Given the description of an element on the screen output the (x, y) to click on. 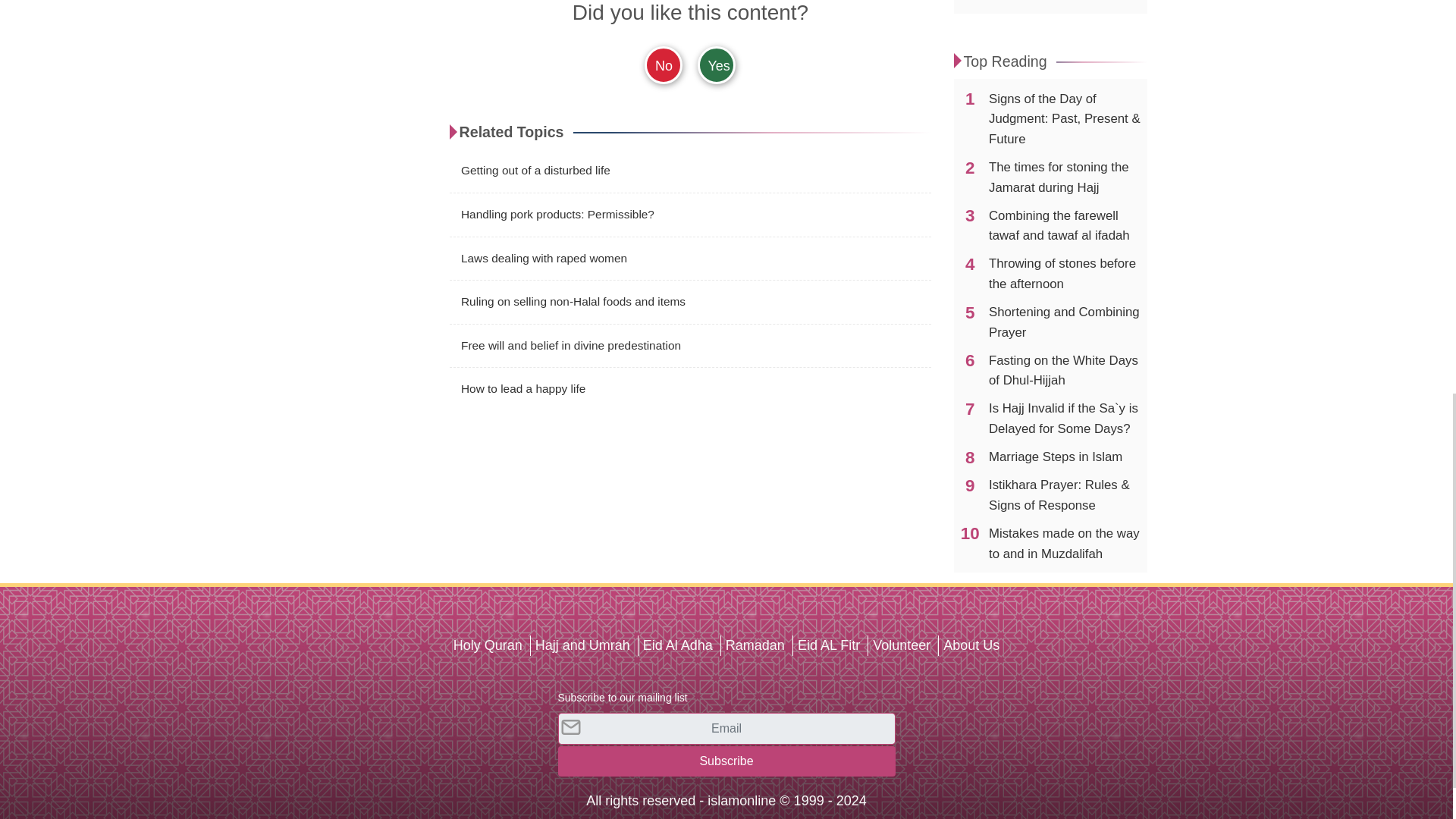
Subscribe (726, 760)
